Given the description of an element on the screen output the (x, y) to click on. 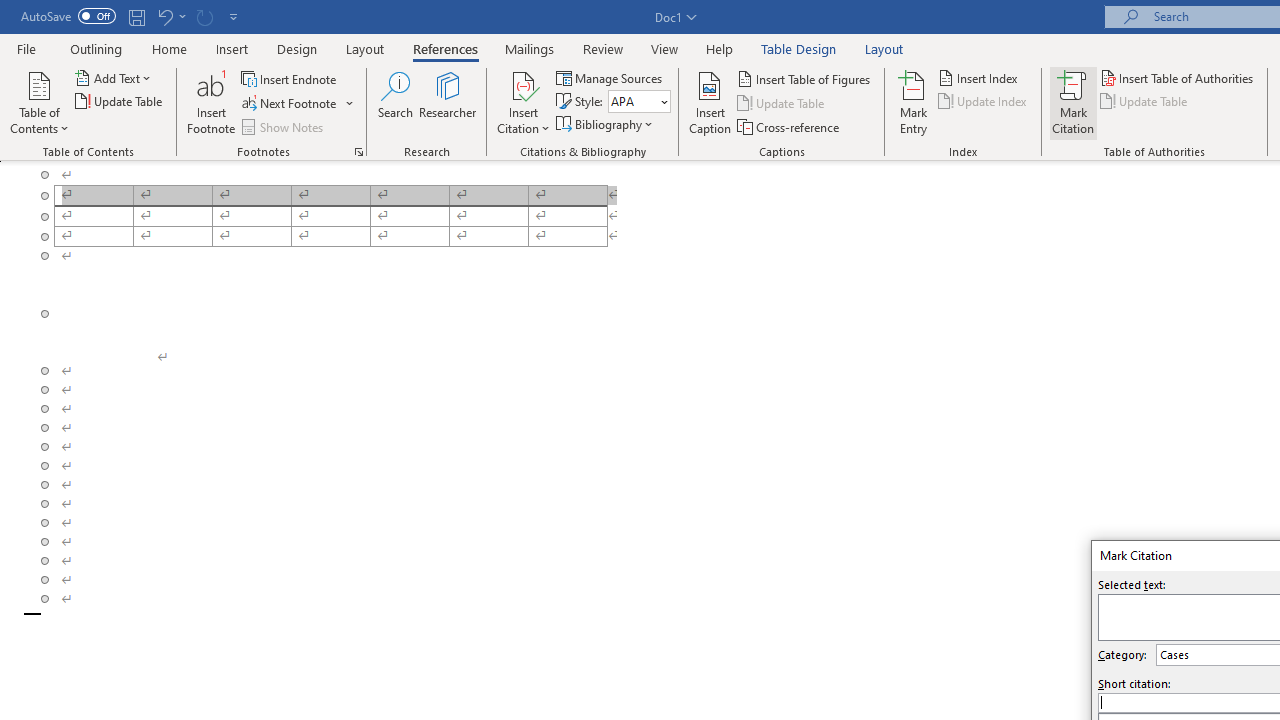
Insert Footnote (211, 102)
Add Text (114, 78)
Table of Contents (39, 102)
Insert Index... (979, 78)
Bibliography (606, 124)
Show Notes (284, 126)
Cross-reference... (789, 126)
Insert Table of Authorities... (1177, 78)
